Given the description of an element on the screen output the (x, y) to click on. 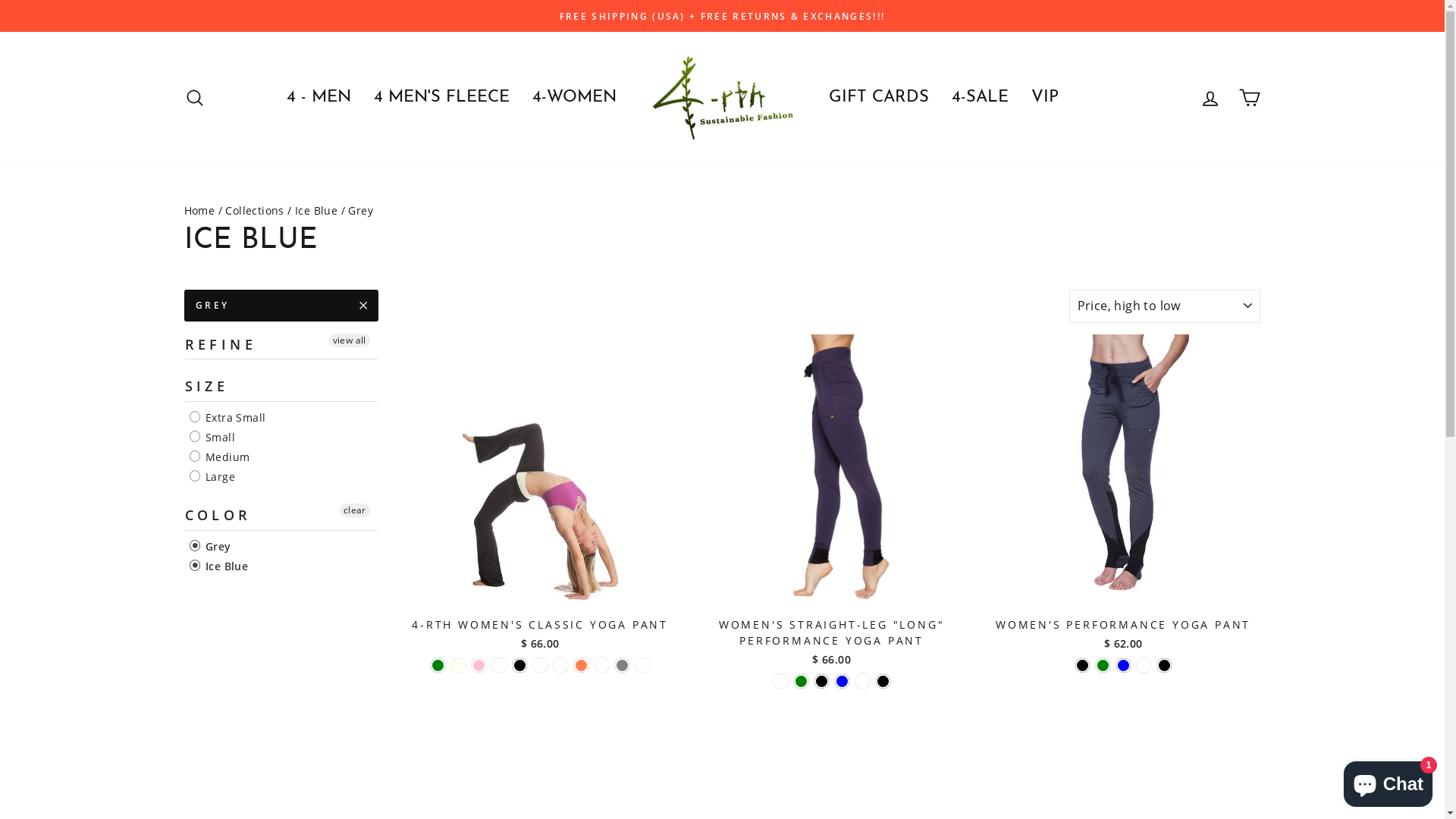
Shopify online store chat Element type: hover (1388, 780)
Extra Small Element type: text (227, 417)
Medium Element type: text (219, 456)
Home Element type: text (198, 210)
Collections Element type: text (254, 210)
WOMEN'S STRAIGHT-LEG "LONG" PERFORMANCE YOGA PANT
$ 66.00 Element type: text (831, 502)
4-WOMEN Element type: text (573, 98)
4 MEN'S FLEECE Element type: text (441, 98)
clear Element type: text (354, 510)
LOG IN Element type: text (1210, 97)
SEARCH Element type: text (193, 97)
FREE SHIPPING (USA) + FREE RETURNS & EXCHANGES!!! Element type: text (722, 15)
Small Element type: text (212, 437)
view all Element type: text (349, 340)
GIFT CARDS Element type: text (878, 98)
Large Element type: text (212, 476)
4-SALE Element type: text (979, 98)
Skip to content Element type: text (0, 0)
GREY Element type: text (280, 305)
Ice Blue Element type: text (218, 566)
VIP Element type: text (1044, 98)
WOMEN'S PERFORMANCE YOGA PANT
$ 62.00 Element type: text (1123, 494)
4-RTH WOMEN'S CLASSIC YOGA PANT
$ 66.00 Element type: text (539, 494)
Ice Blue Element type: text (315, 210)
CART Element type: text (1249, 97)
4 - MEN Element type: text (317, 98)
Grey Element type: text (210, 546)
